Given the description of an element on the screen output the (x, y) to click on. 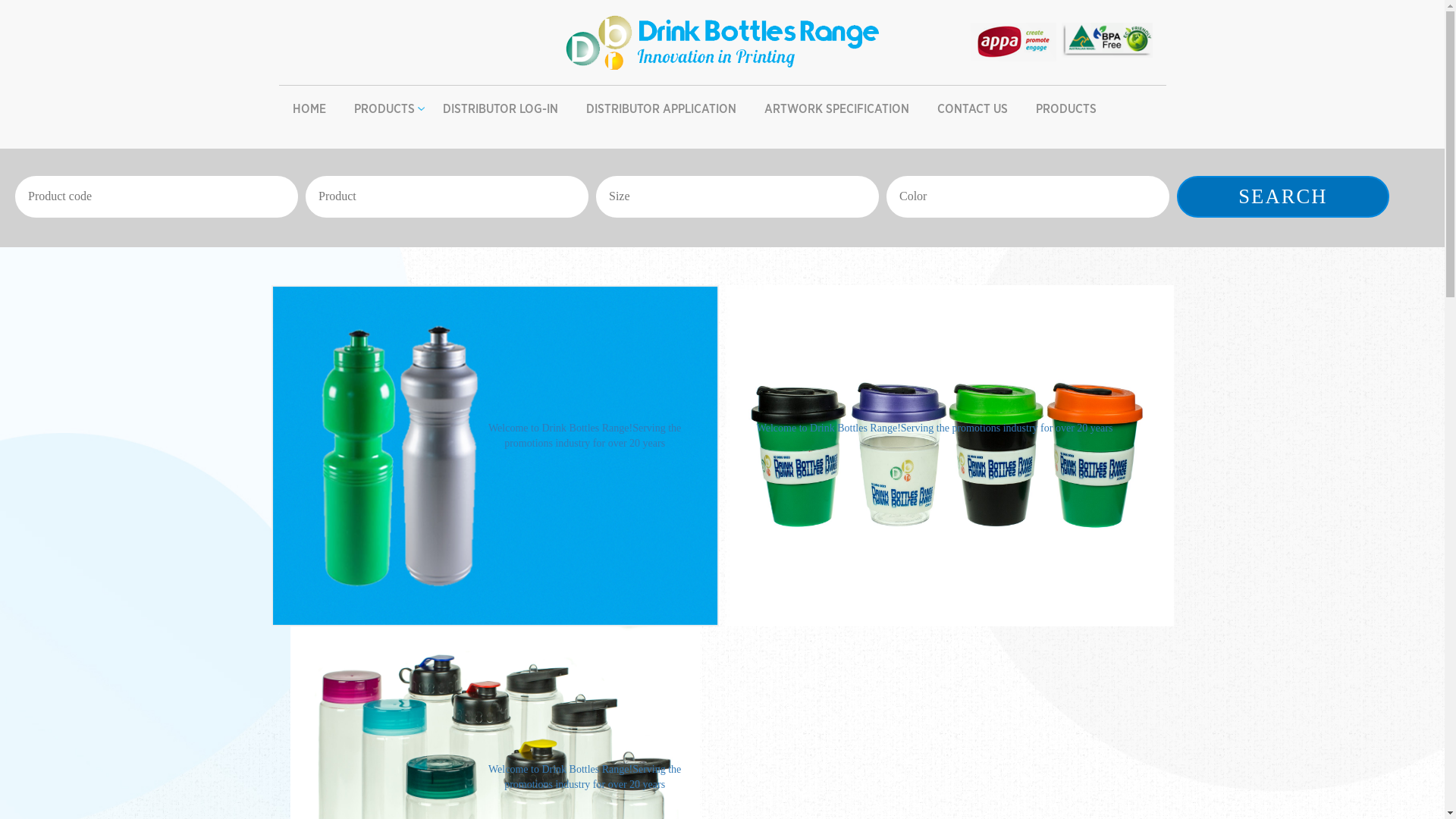
ARTWORK SPECIFICATION Element type: text (836, 109)
Drink Bottles Element type: hover (722, 41)
CONTACT US Element type: text (972, 109)
PRODUCTS Element type: text (383, 109)
PRODUCTS Element type: text (1066, 109)
DISTRIBUTOR APPLICATION Element type: text (660, 109)
DISTRIBUTOR LOG-IN Element type: text (500, 109)
HOME Element type: text (309, 109)
Search Element type: text (1282, 196)
